Given the description of an element on the screen output the (x, y) to click on. 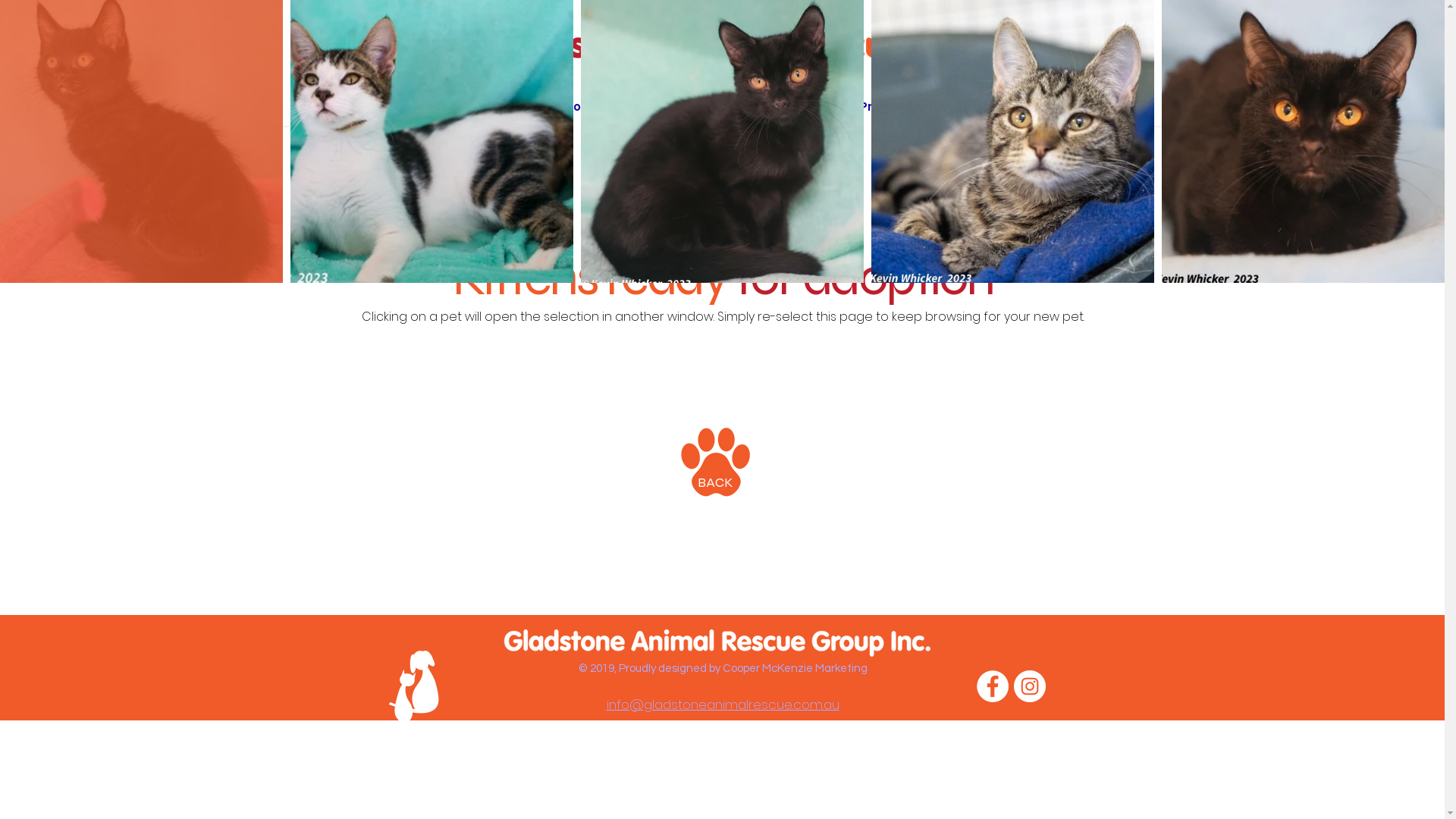
Volunteer Element type: text (973, 106)
About Element type: text (575, 106)
BACK Element type: text (715, 481)
Foster Element type: text (792, 106)
Events Element type: text (636, 106)
Home Element type: text (515, 106)
info@gladstoneanimalrescue.com.au Element type: text (722, 704)
Our Programs Element type: text (877, 106)
Log In Element type: text (1042, 57)
Adopt a Pet Element type: text (715, 106)
